Given the description of an element on the screen output the (x, y) to click on. 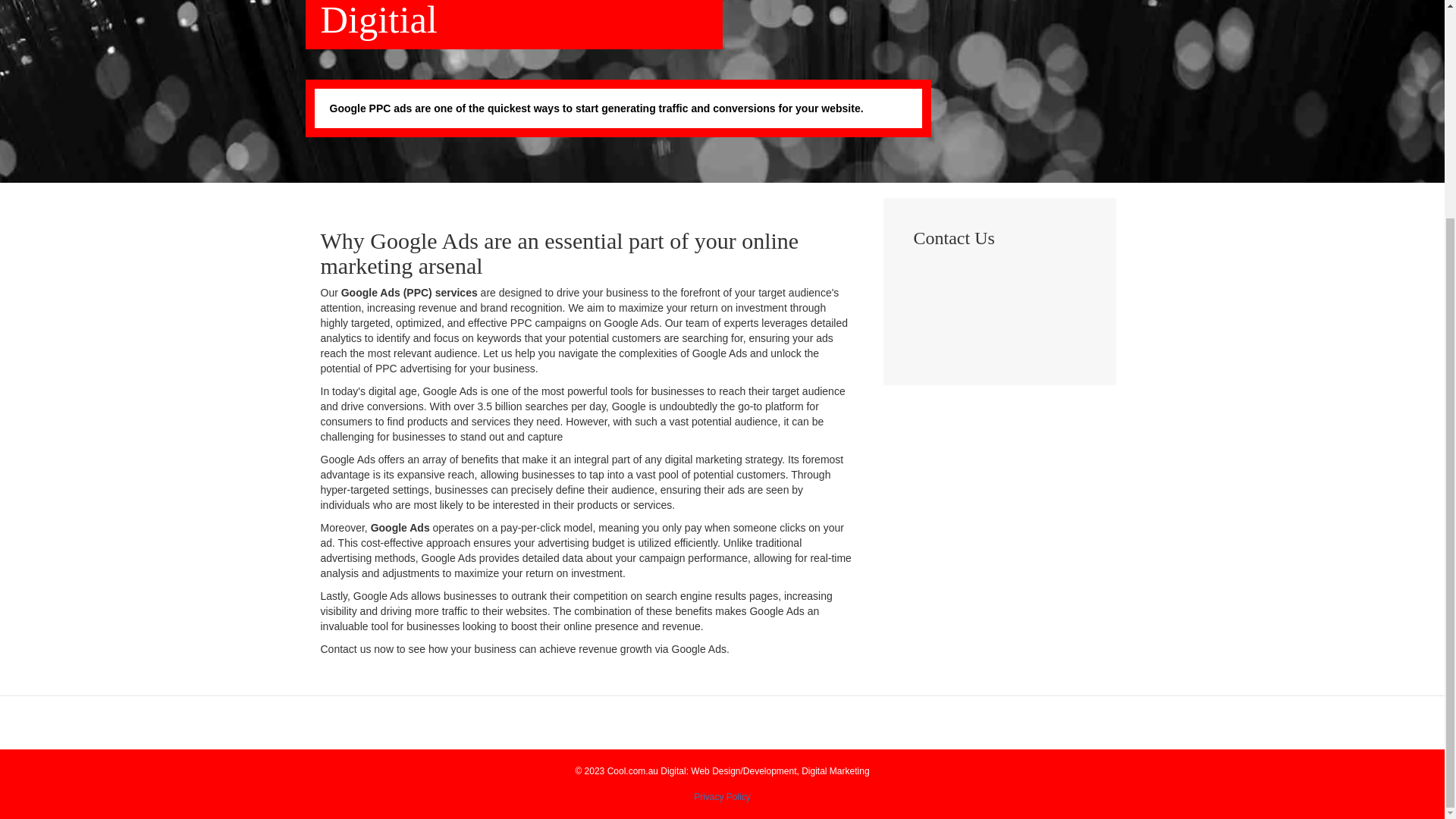
Privacy Policy (722, 796)
Form 0 (998, 313)
